Given the description of an element on the screen output the (x, y) to click on. 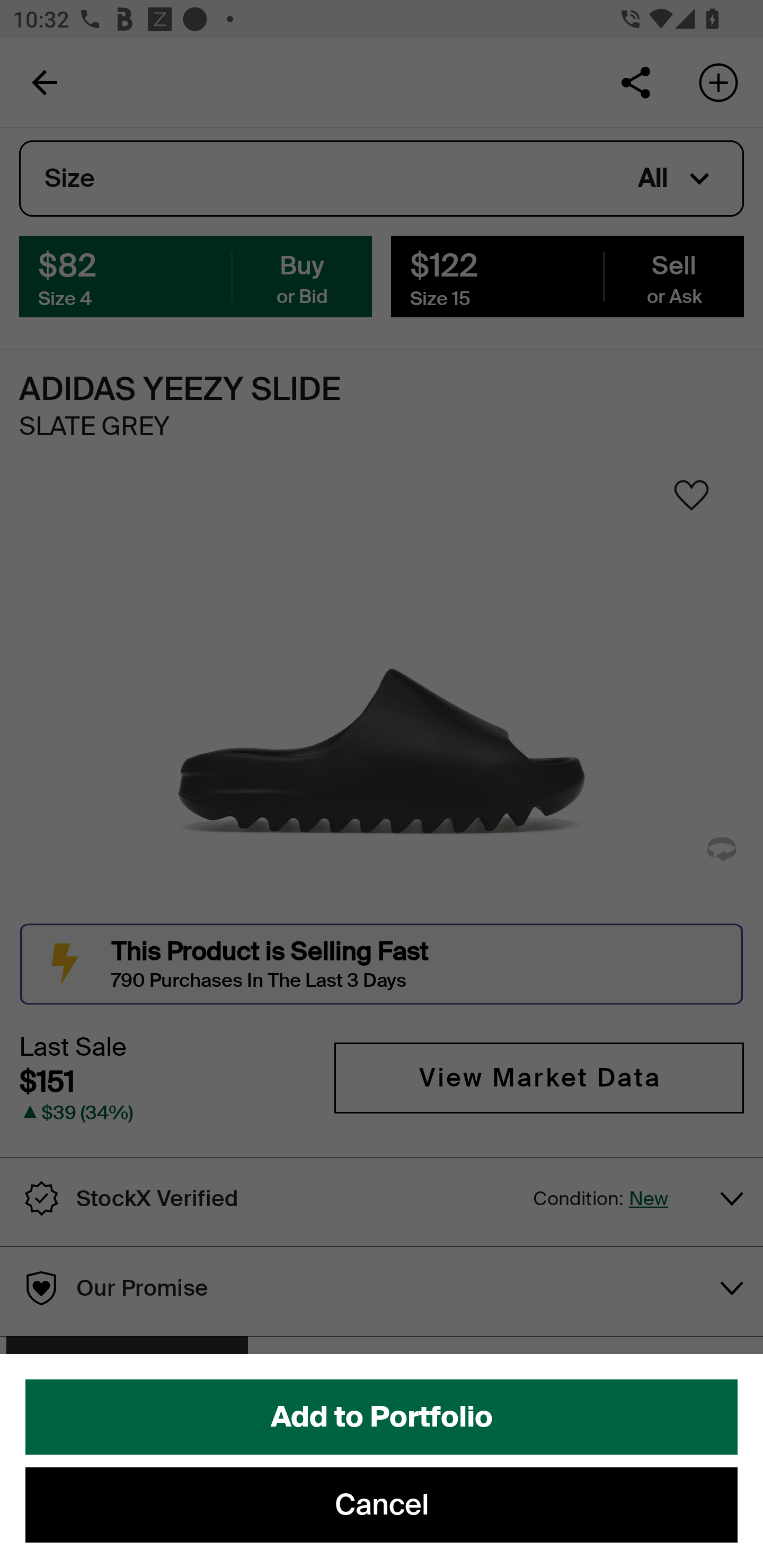
Add to Portfolio (381, 1417)
Cancel (381, 1504)
